Given the description of an element on the screen output the (x, y) to click on. 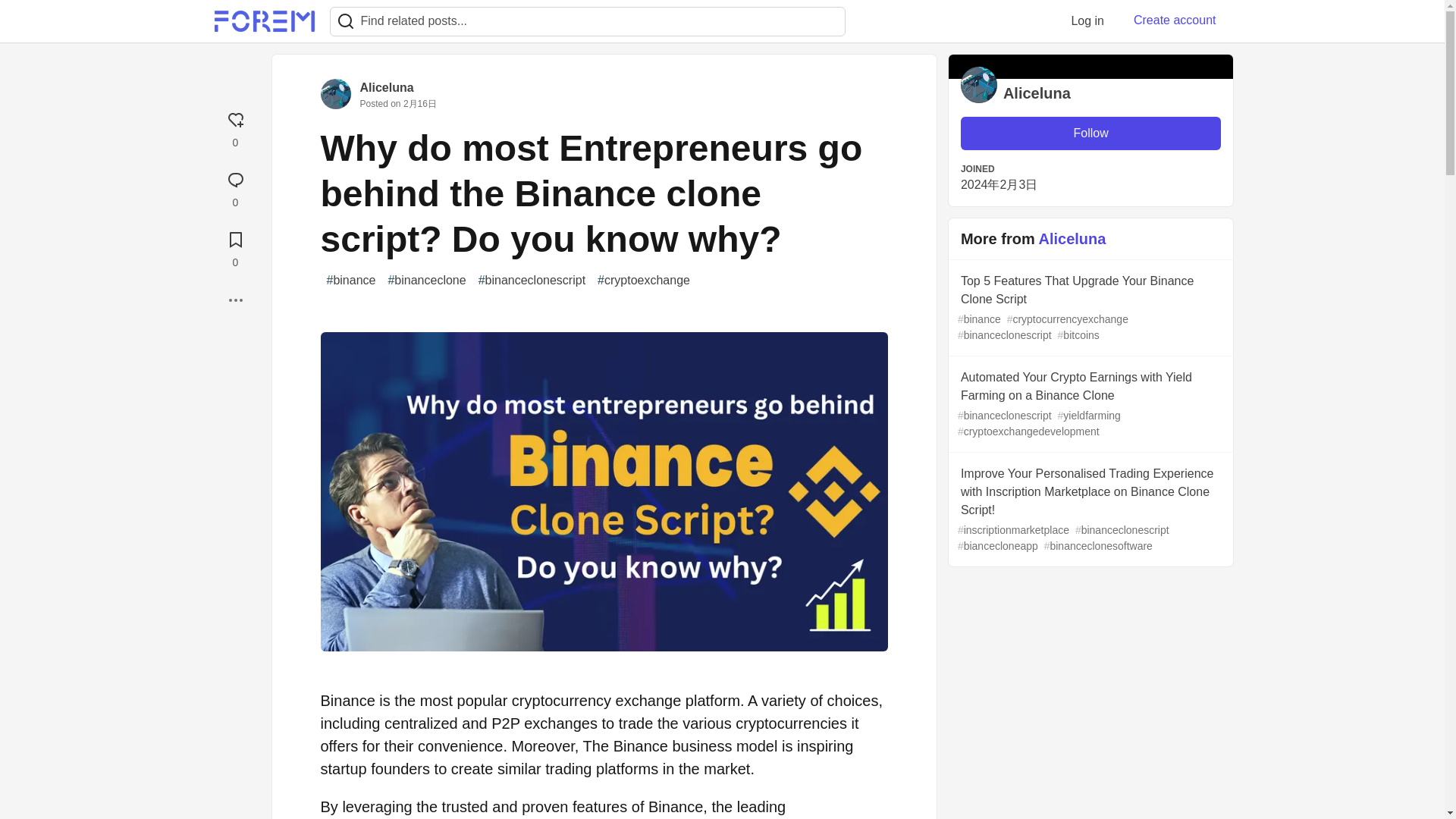
0 (235, 187)
Aliceluna (386, 87)
Log in (1087, 20)
More... (234, 300)
0 (235, 247)
More... (234, 299)
Create account (1174, 20)
